Given the description of an element on the screen output the (x, y) to click on. 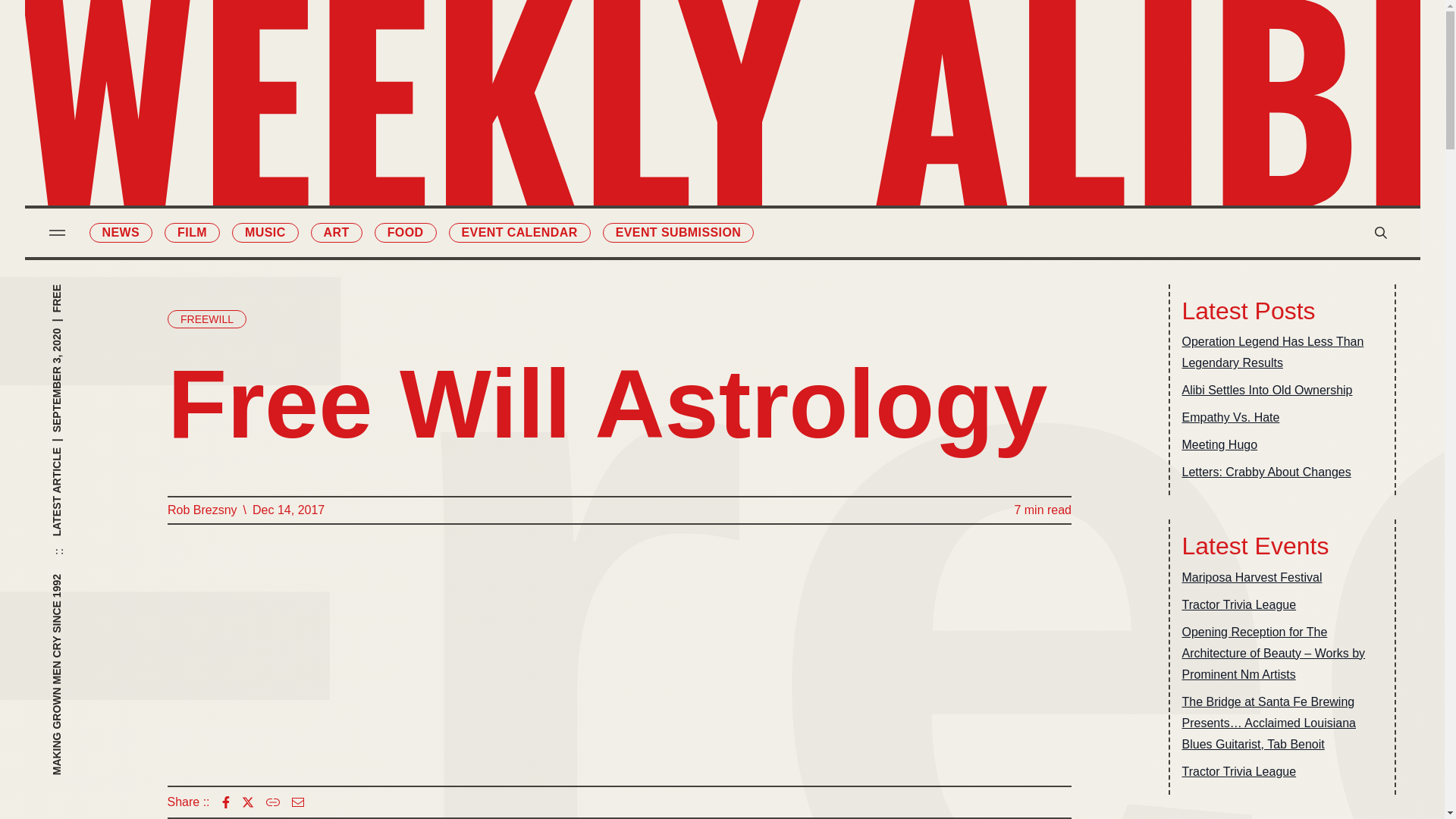
NEWS (120, 232)
ART (336, 232)
FREEWILL (206, 319)
FOOD (405, 232)
Rob Brezsny (201, 509)
EVENT SUBMISSION (678, 232)
MUSIC (264, 232)
EVENT CALENDAR (519, 232)
FILM (191, 232)
